Given the description of an element on the screen output the (x, y) to click on. 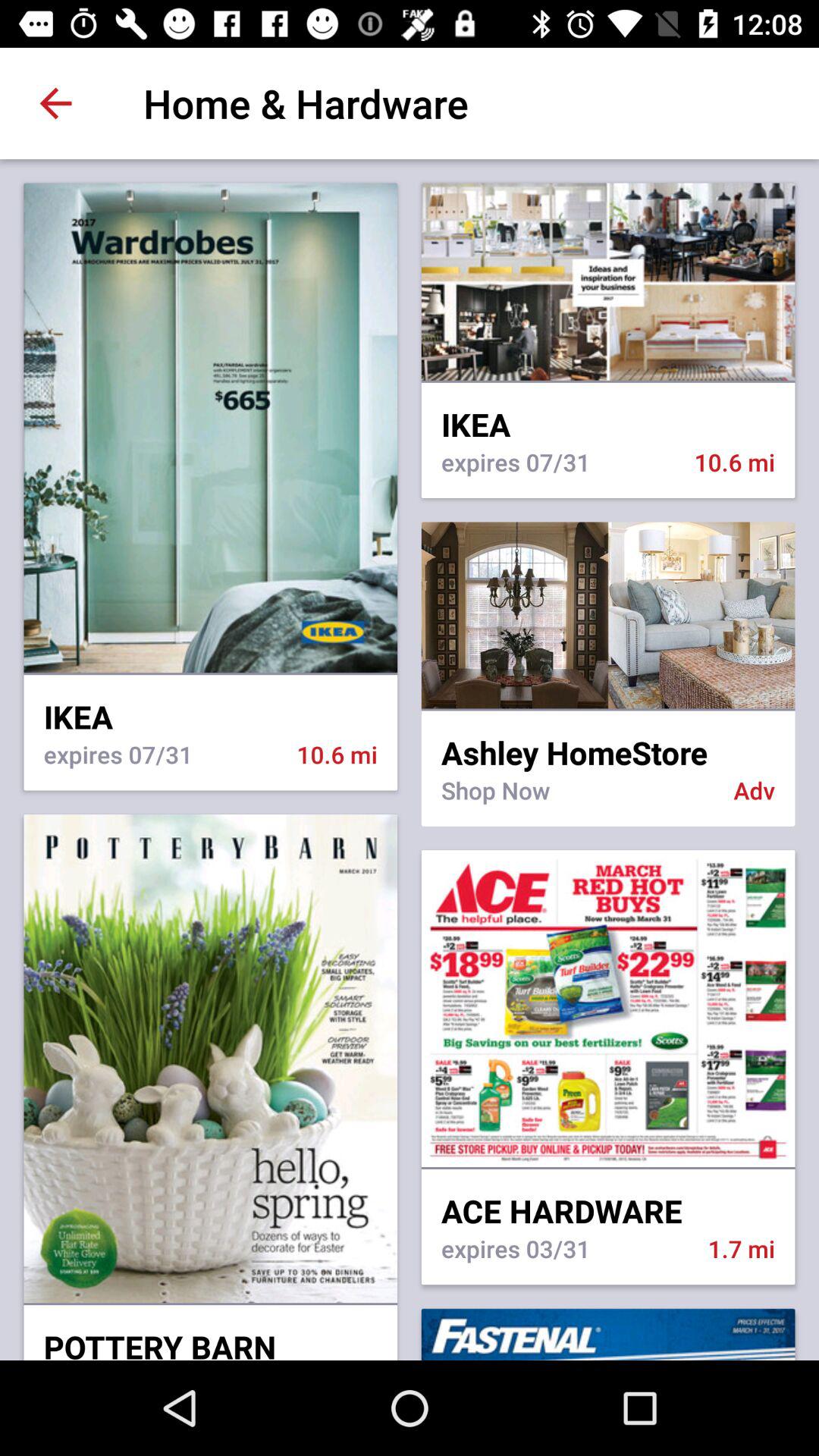
select icon below expires 07/31 item (608, 615)
